Given the description of an element on the screen output the (x, y) to click on. 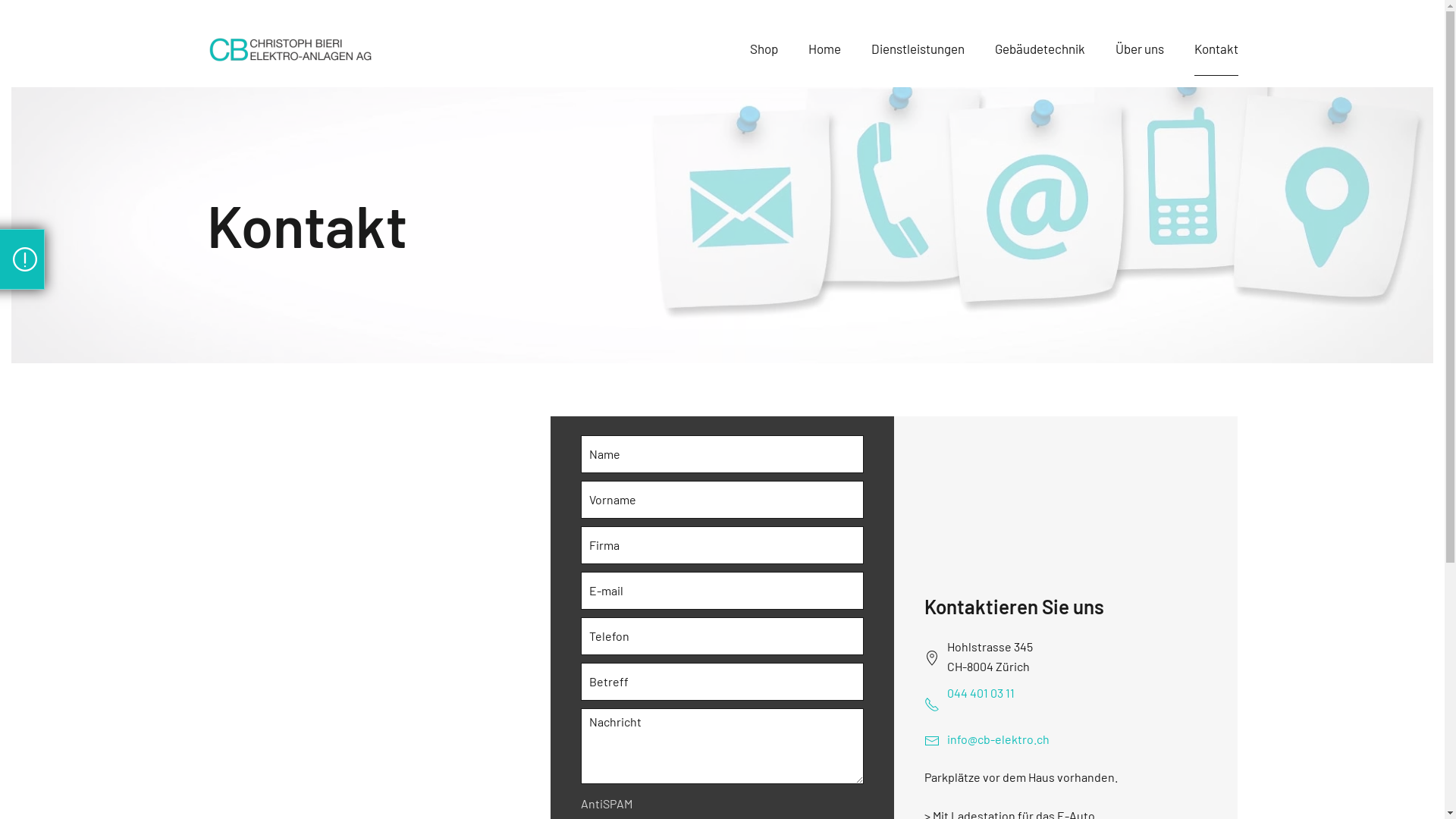
044 401 03 11 Element type: text (1077, 692)
Kontakt Element type: text (1215, 49)
Home Element type: text (824, 49)
Dienstleistungen Element type: text (917, 49)
Shop Element type: text (763, 49)
info@cb-elektro.ch Element type: text (998, 738)
